Given the description of an element on the screen output the (x, y) to click on. 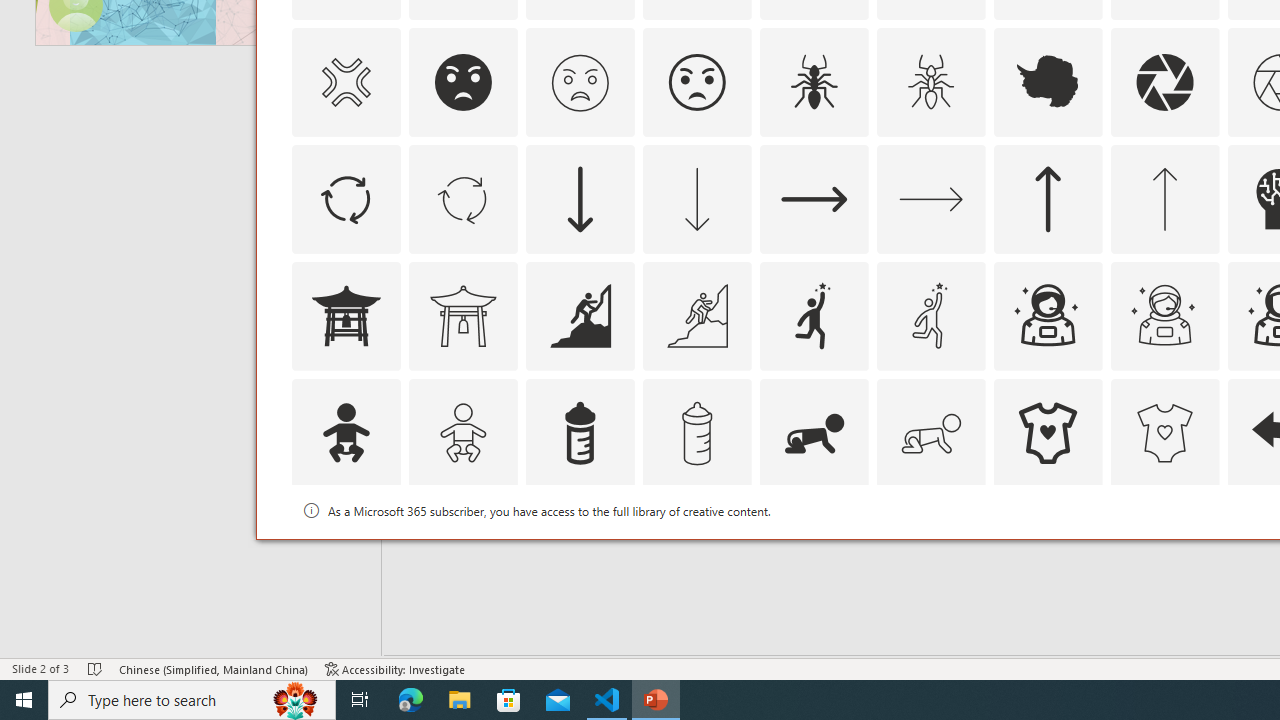
AutomationID: Icons_AstronautFemale (1048, 316)
AutomationID: Icons_Badge10_M (345, 550)
AutomationID: Icons_BabyBottle_M (696, 432)
AutomationID: Icons_Aspiration1 (813, 316)
AutomationID: Icons_Ant_M (930, 82)
